Given the description of an element on the screen output the (x, y) to click on. 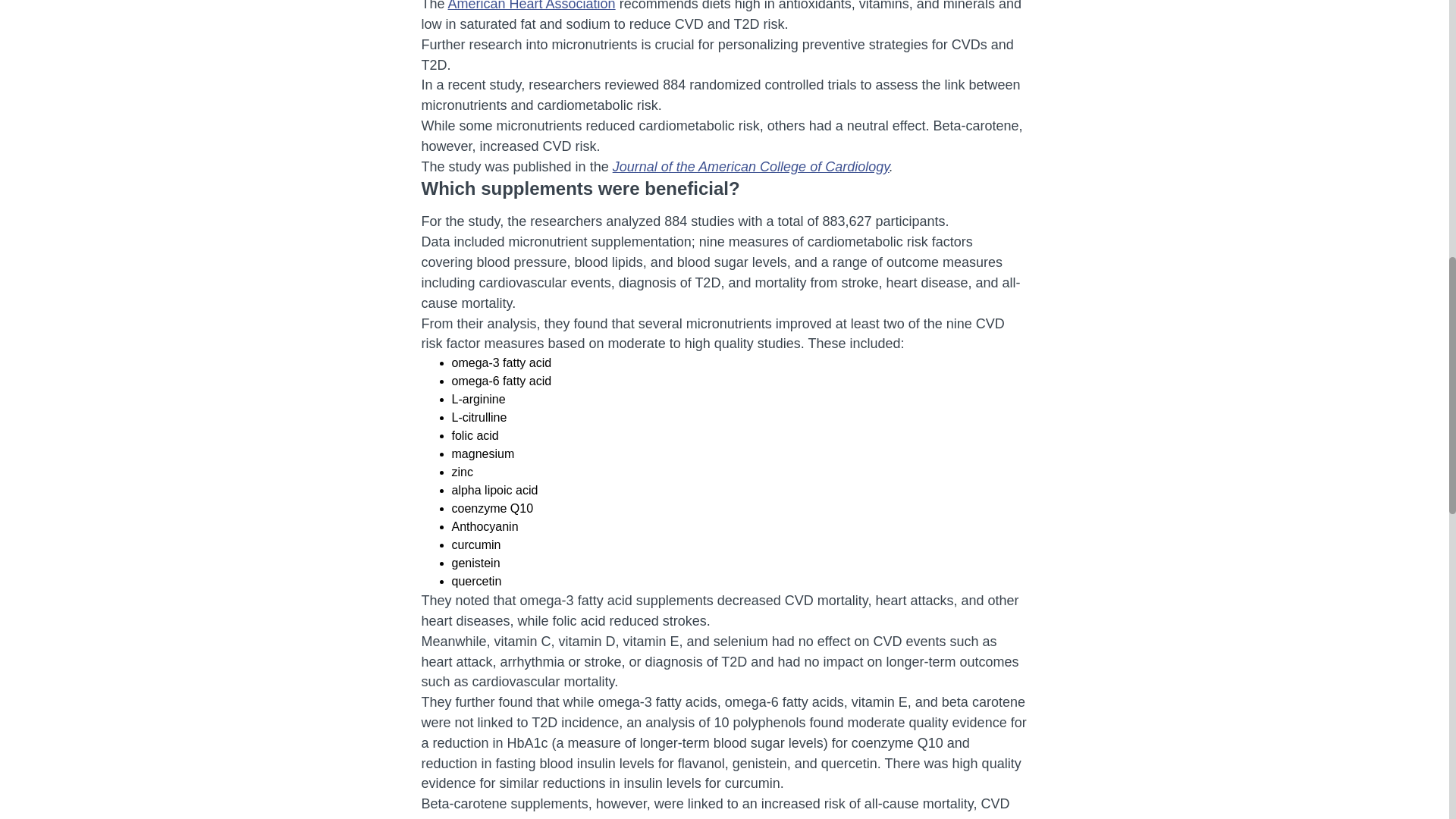
American Heart Association (531, 5)
Journal of the American College of Cardiology (750, 166)
